Given the description of an element on the screen output the (x, y) to click on. 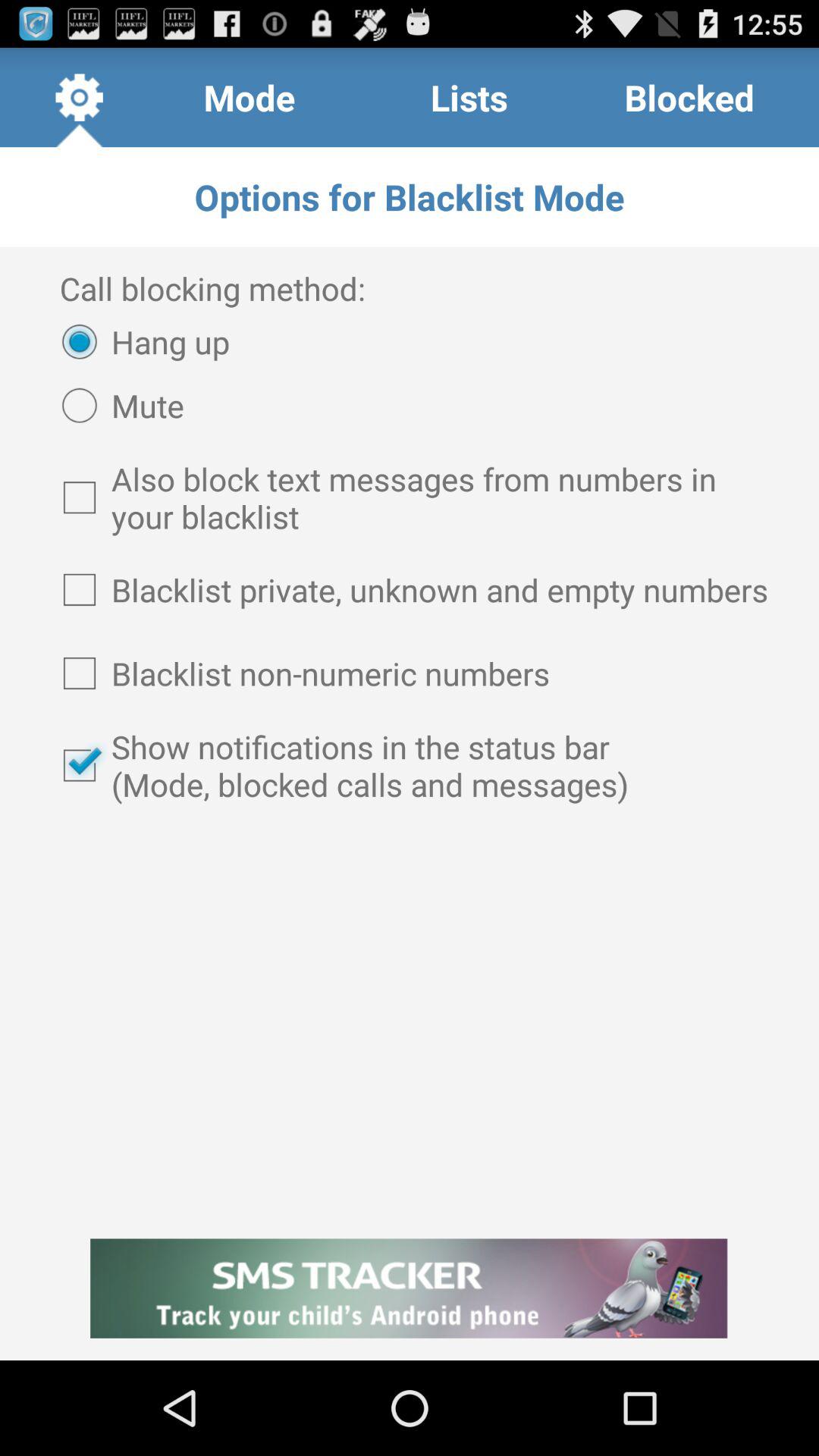
choose the hang up radio button (138, 341)
